Given the description of an element on the screen output the (x, y) to click on. 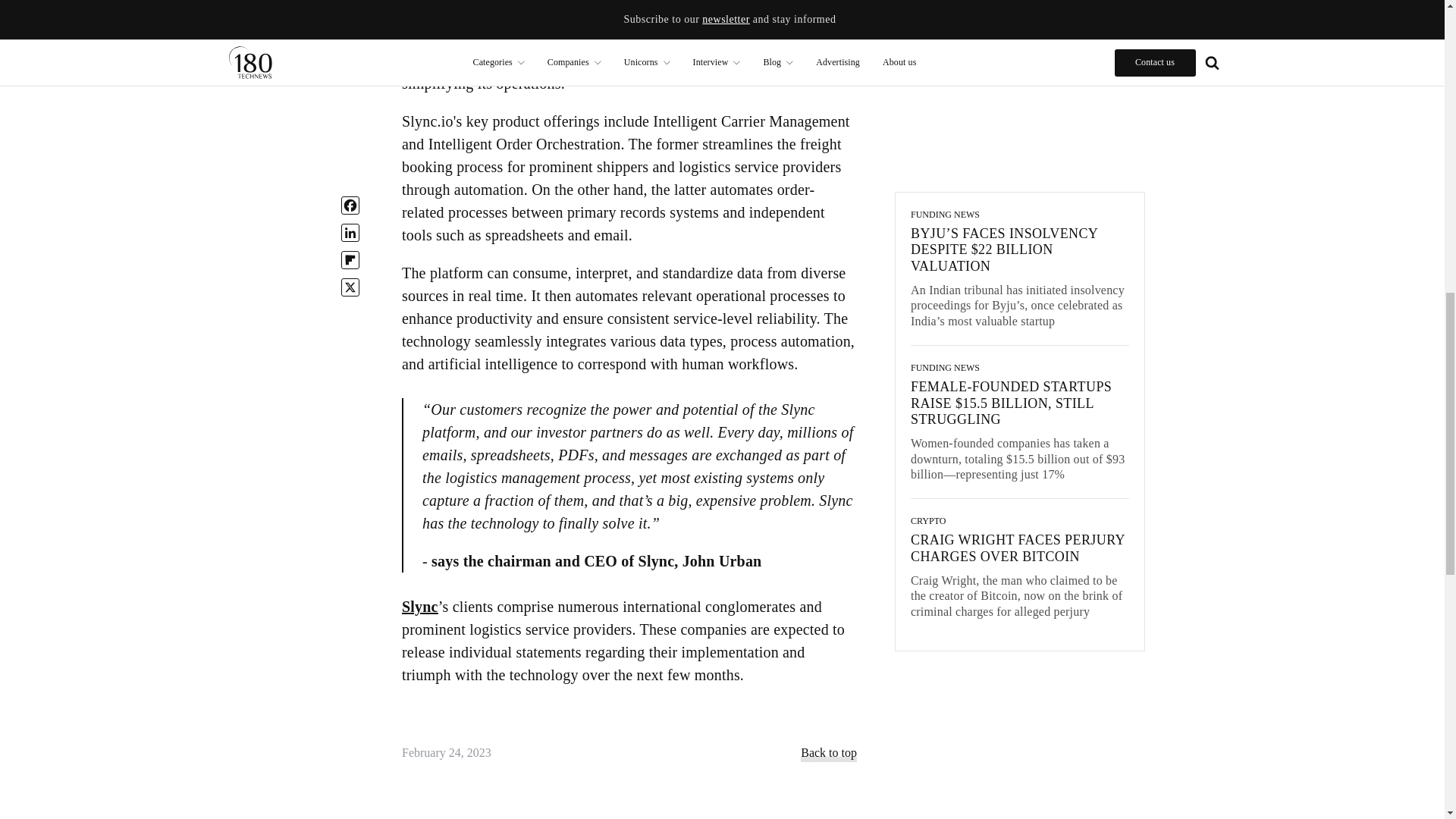
X (349, 1)
